Given the description of an element on the screen output the (x, y) to click on. 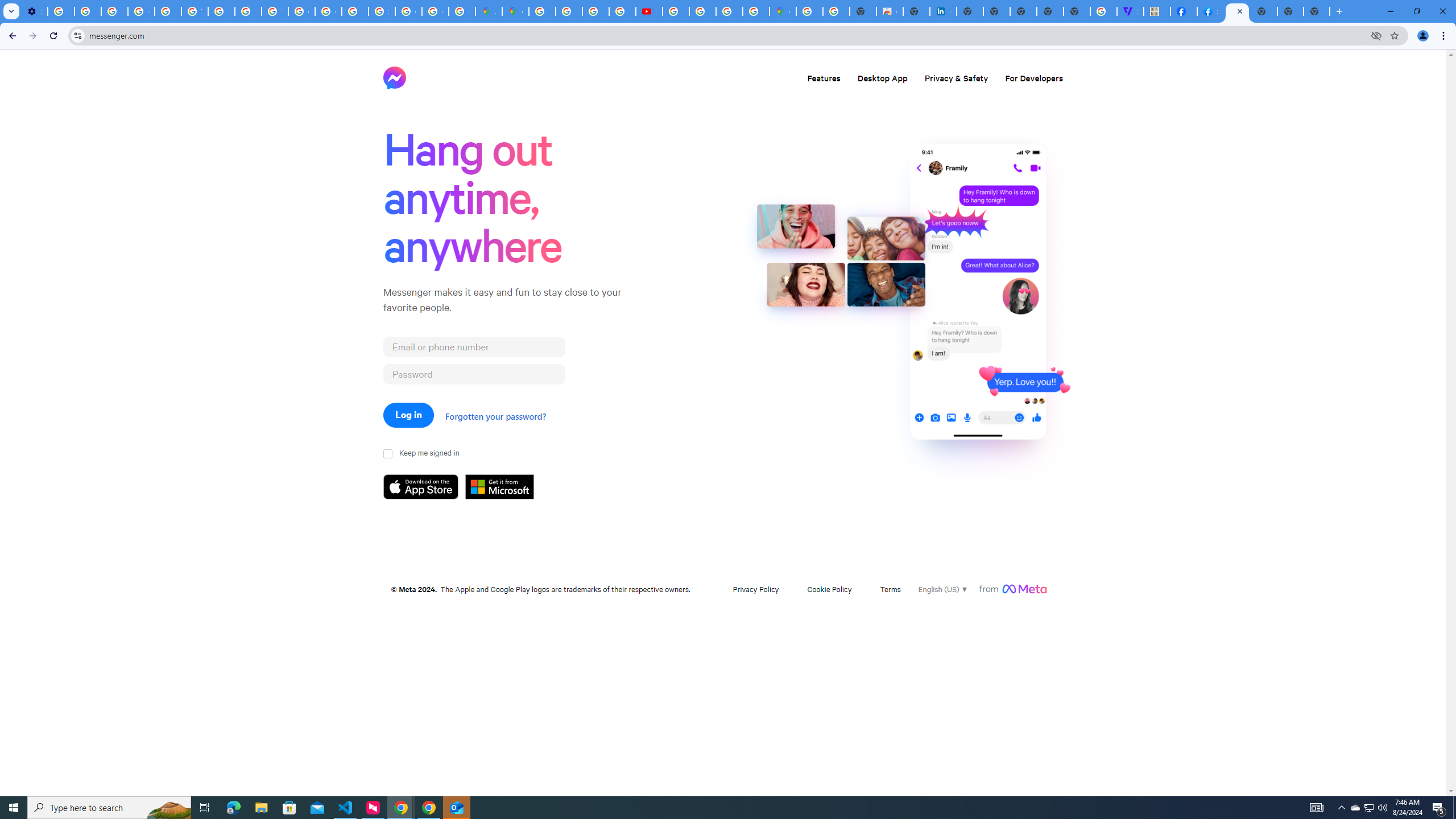
Password (473, 373)
Log in (407, 414)
MILEY CYRUS. (1156, 11)
Google Maps (782, 11)
Third-party cookies blocked (1376, 35)
Chrome Web Store (889, 11)
Settings - Customize profile (34, 11)
Privacy Help Center - Policies Help (569, 11)
